Given the description of an element on the screen output the (x, y) to click on. 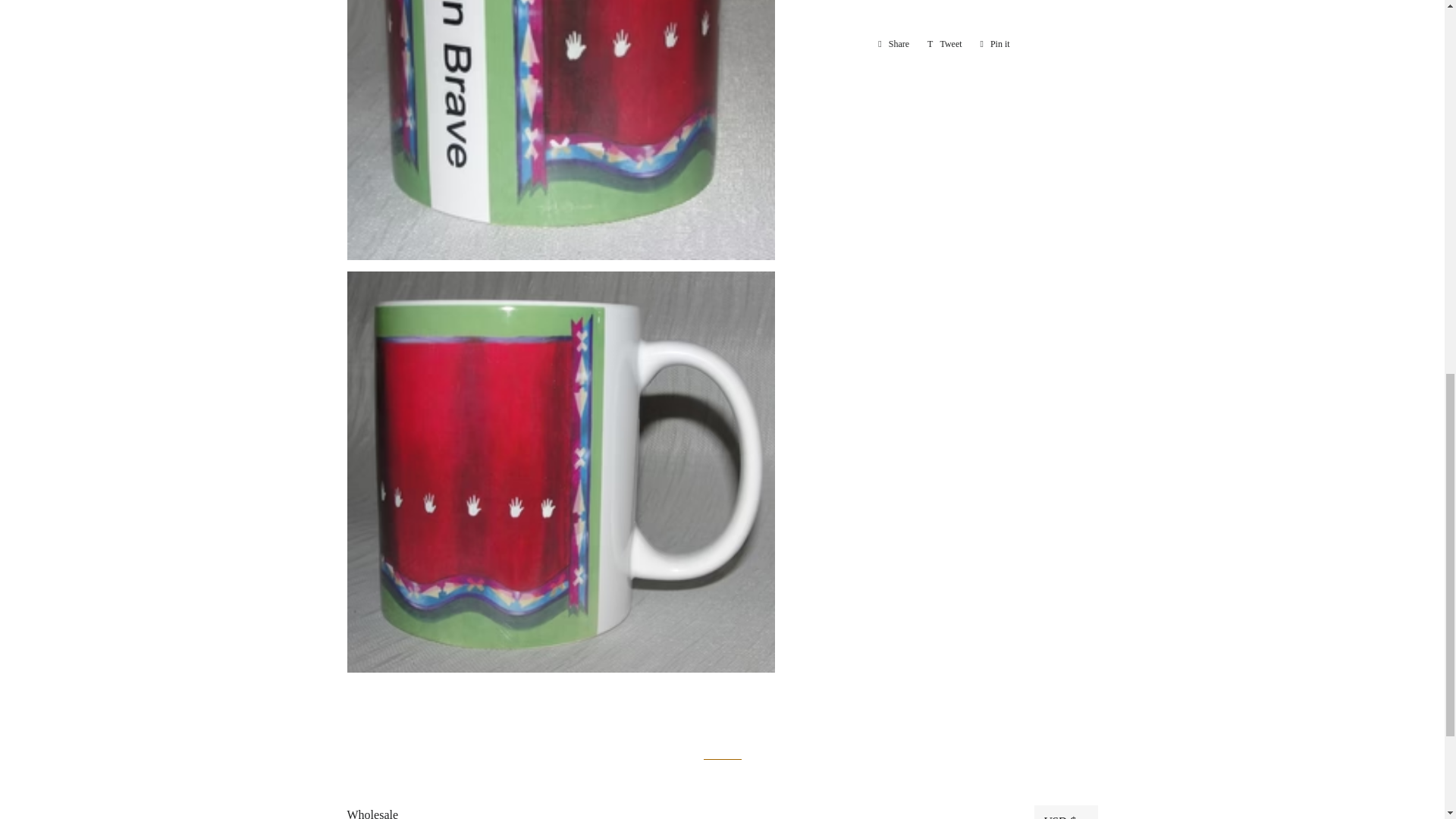
Tweet on Twitter (944, 44)
Pin on Pinterest (994, 44)
Share on Facebook (893, 44)
